Given the description of an element on the screen output the (x, y) to click on. 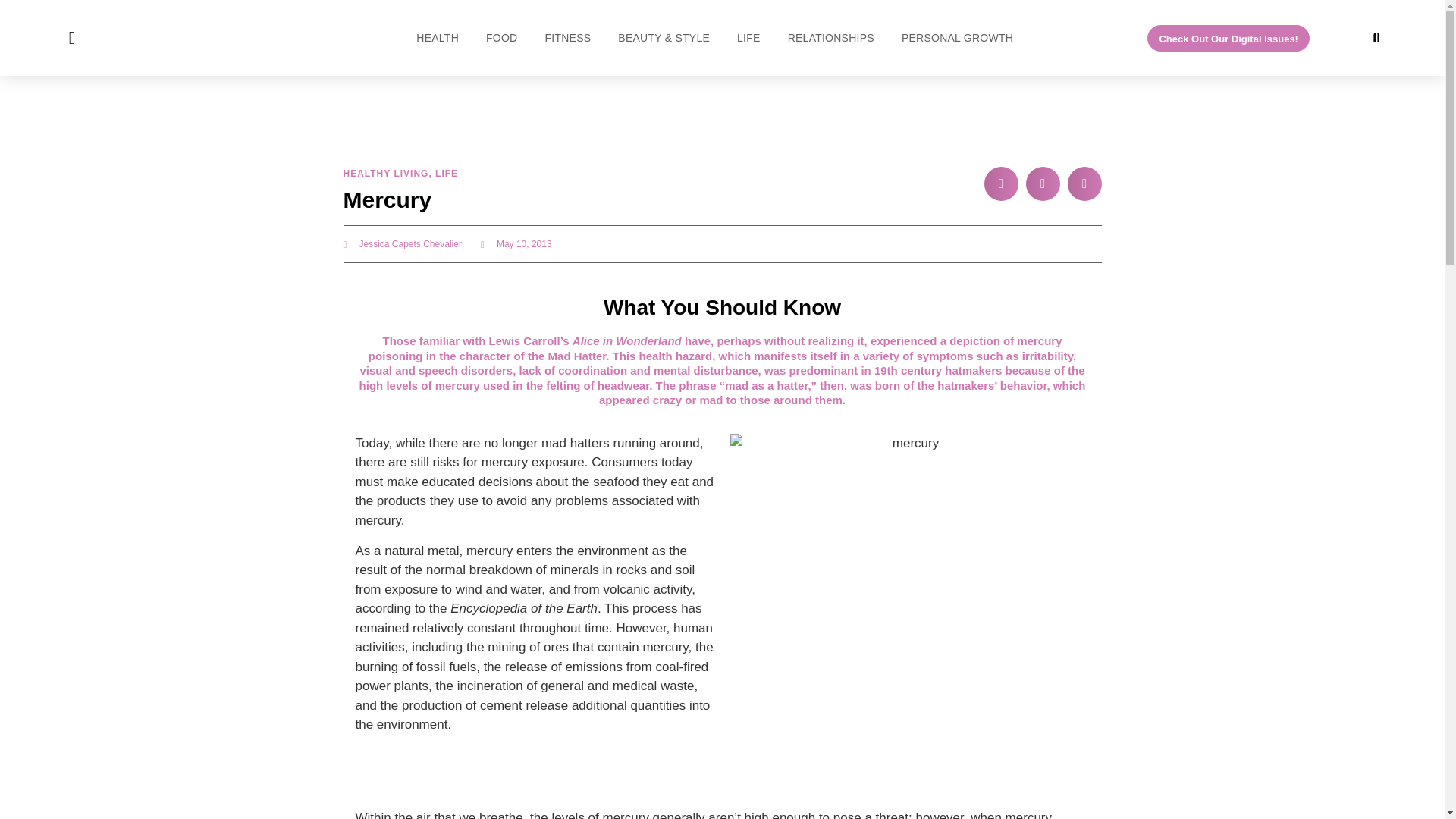
PERSONAL GROWTH (957, 37)
Check Out Our Digital Issues! (1227, 37)
LIFE (748, 37)
FOOD (501, 37)
HEALTH (437, 37)
RELATIONSHIPS (830, 37)
FITNESS (567, 37)
